Given the description of an element on the screen output the (x, y) to click on. 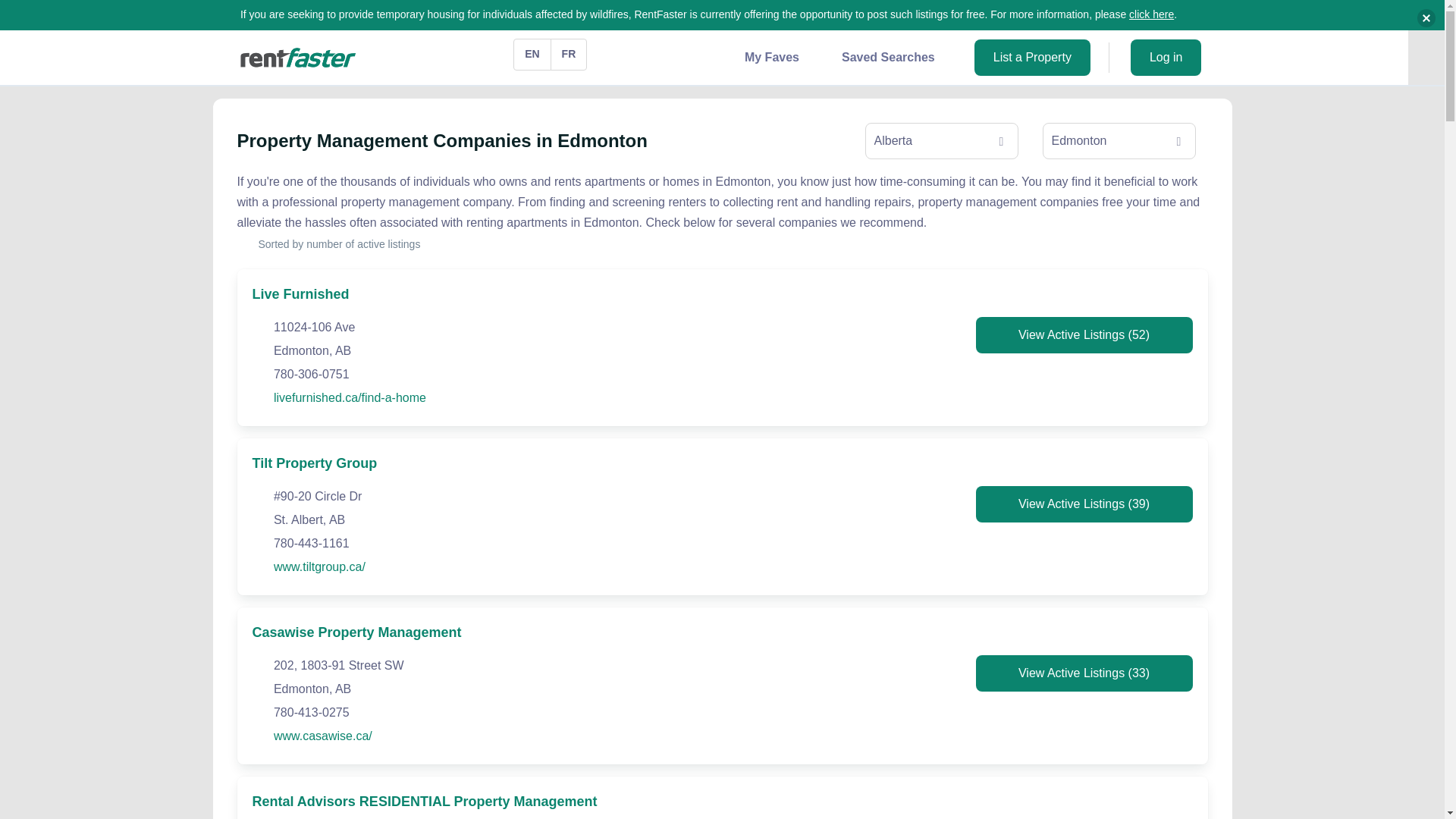
EN (531, 54)
Tilt Property Group (314, 462)
Casawise Property Management (356, 631)
FR (569, 54)
Select City (1118, 140)
My Faves (771, 57)
Select Province (940, 140)
English (531, 54)
View Active Casawise Property Management  Listings (1083, 673)
List a Property (1032, 57)
